Given the description of an element on the screen output the (x, y) to click on. 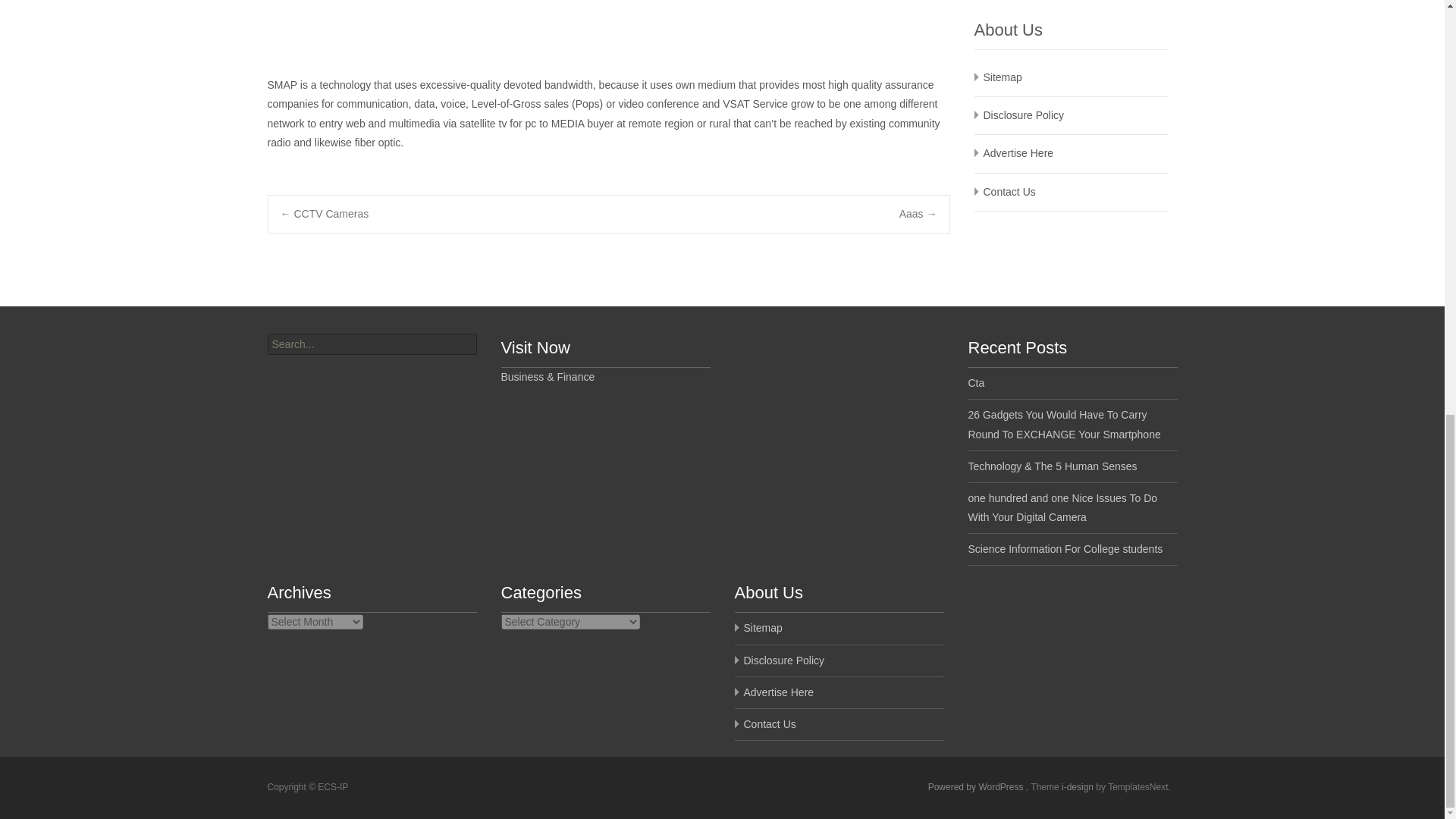
Search for: (371, 343)
Semantic Personal Publishing Platform (977, 787)
Multipurpose WordPress Theme (1078, 787)
